Given the description of an element on the screen output the (x, y) to click on. 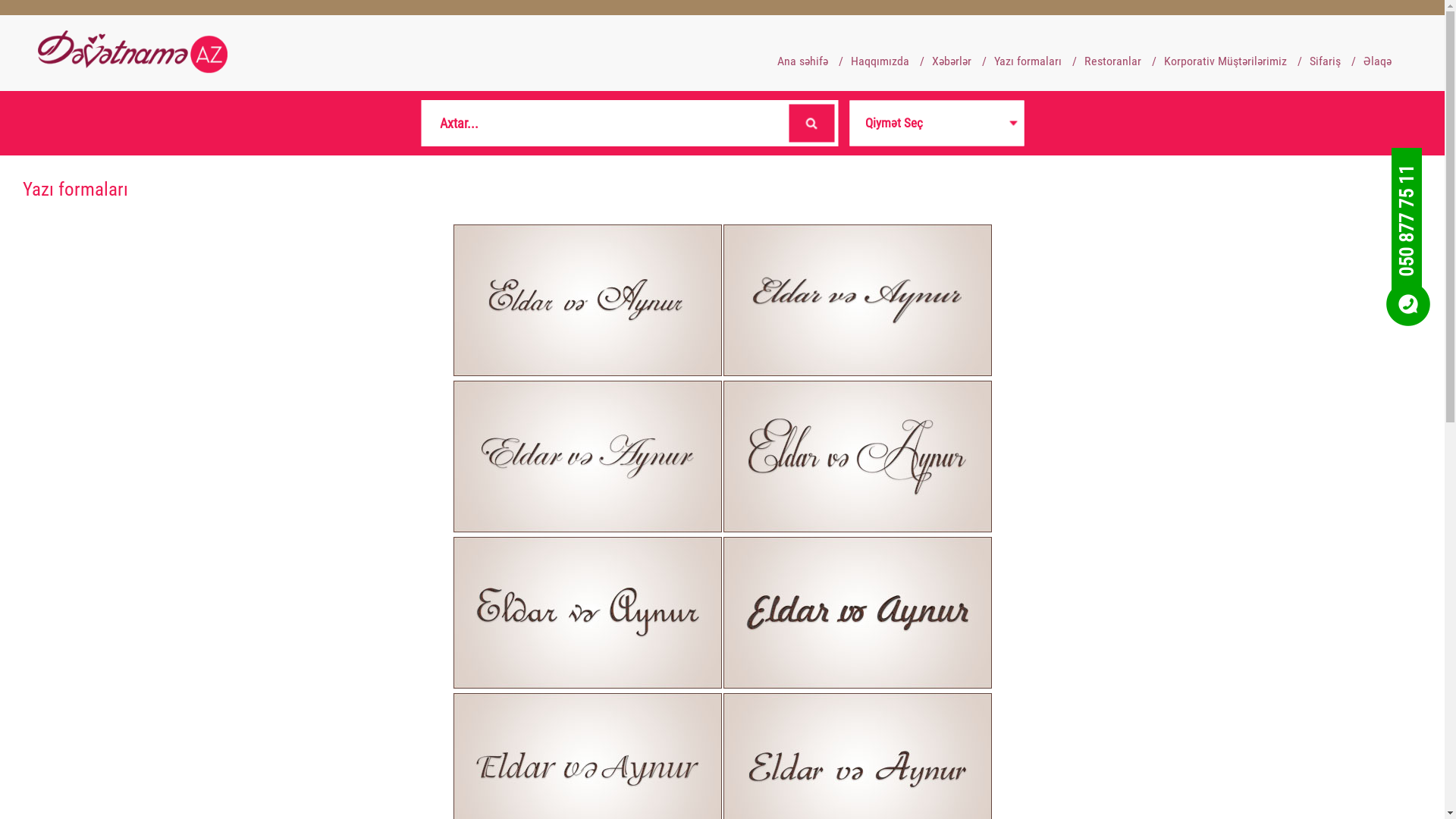
Restoranlar Element type: text (1112, 60)
